Given the description of an element on the screen output the (x, y) to click on. 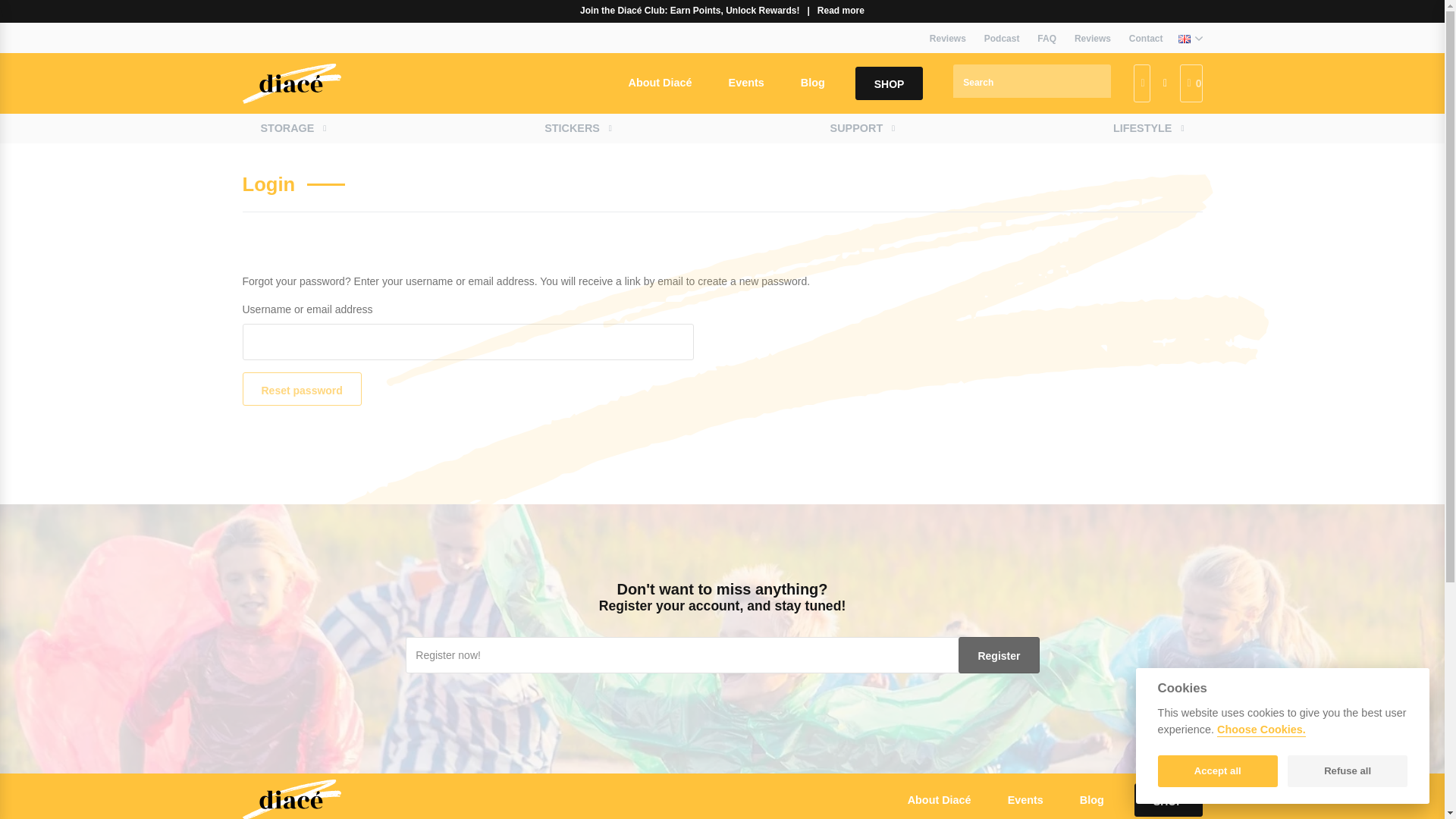
Blog (813, 82)
Read more (840, 11)
Contact (1145, 38)
Reviews (1092, 38)
SUPPORT (856, 128)
Logo - Cedia BV (291, 83)
Logo - Cedia BV (291, 796)
FAQ (1046, 38)
Events (746, 82)
Reviews (947, 38)
STICKERS (571, 128)
0 (1190, 83)
Podcast (1001, 38)
SHOP (889, 82)
LIFESTYLE (1142, 128)
